Given the description of an element on the screen output the (x, y) to click on. 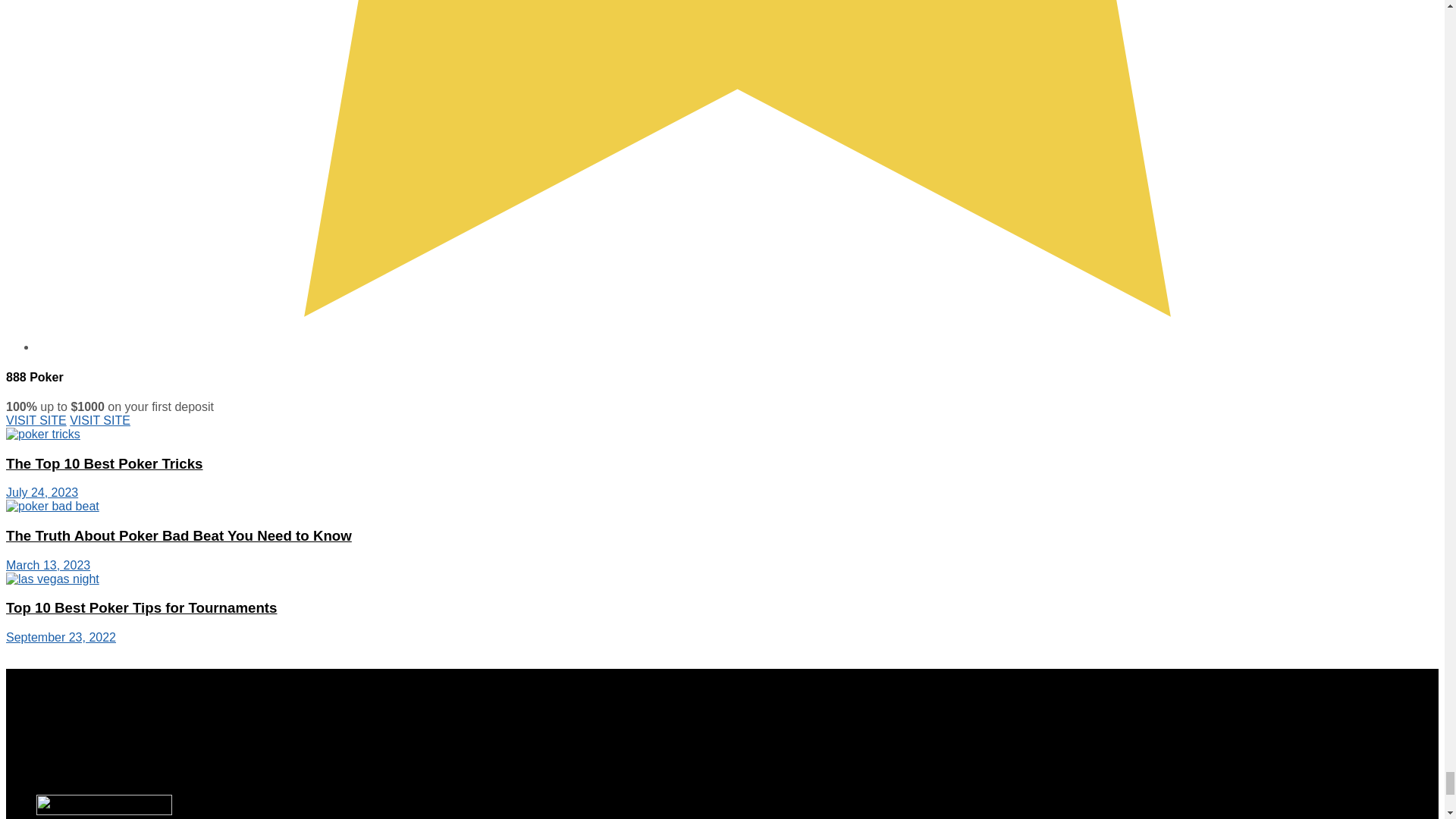
logo-mobile-dark-1 (103, 804)
